Given the description of an element on the screen output the (x, y) to click on. 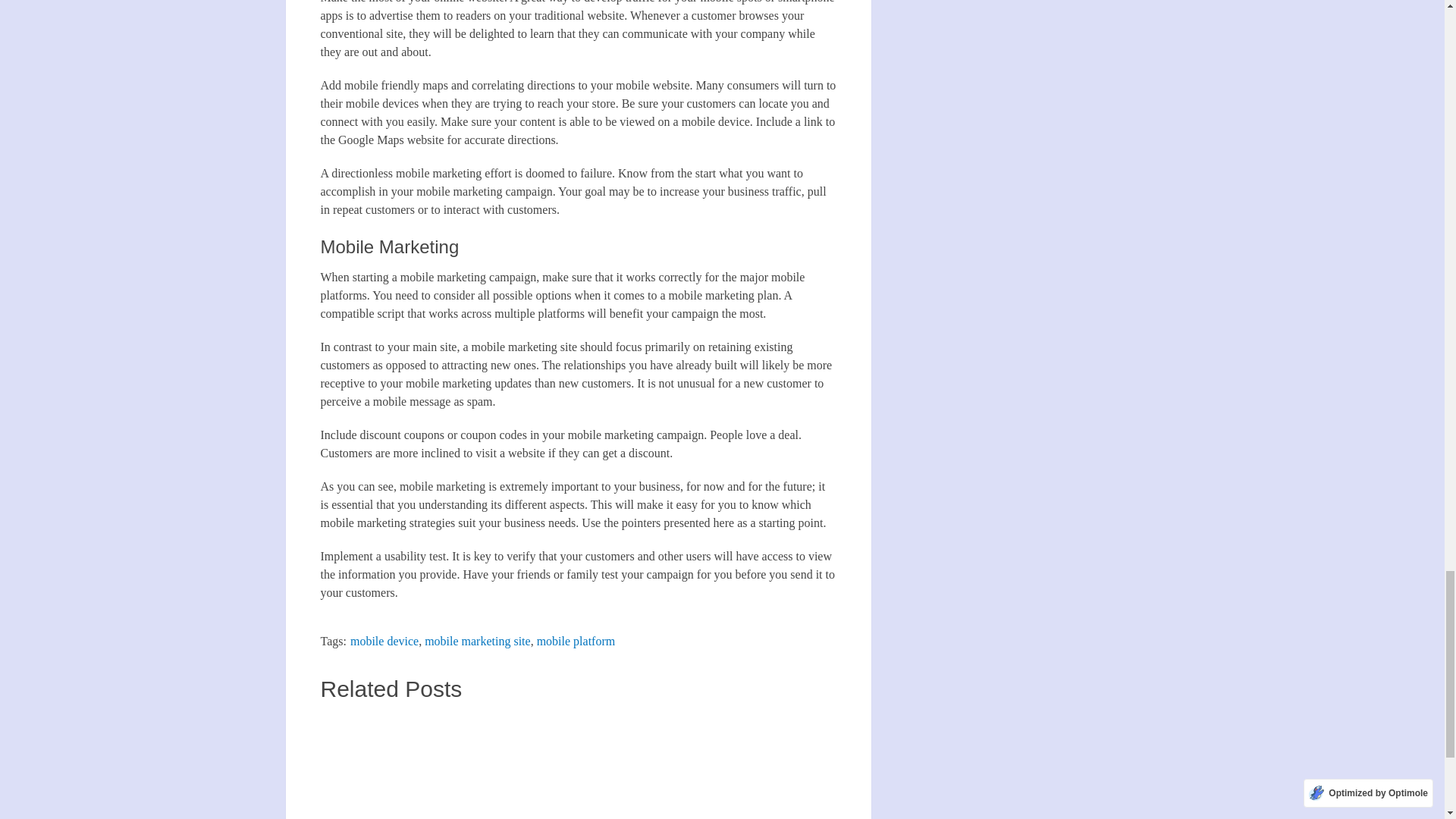
Use Social Media Marketing To Get To The Top! (399, 766)
Use Social Media Marketing To Get To The Top! (399, 766)
Use Social Media Marketing To Get To The Top! (399, 766)
mobile device (384, 640)
mobile marketing site (478, 640)
mobile platform (576, 640)
